Given the description of an element on the screen output the (x, y) to click on. 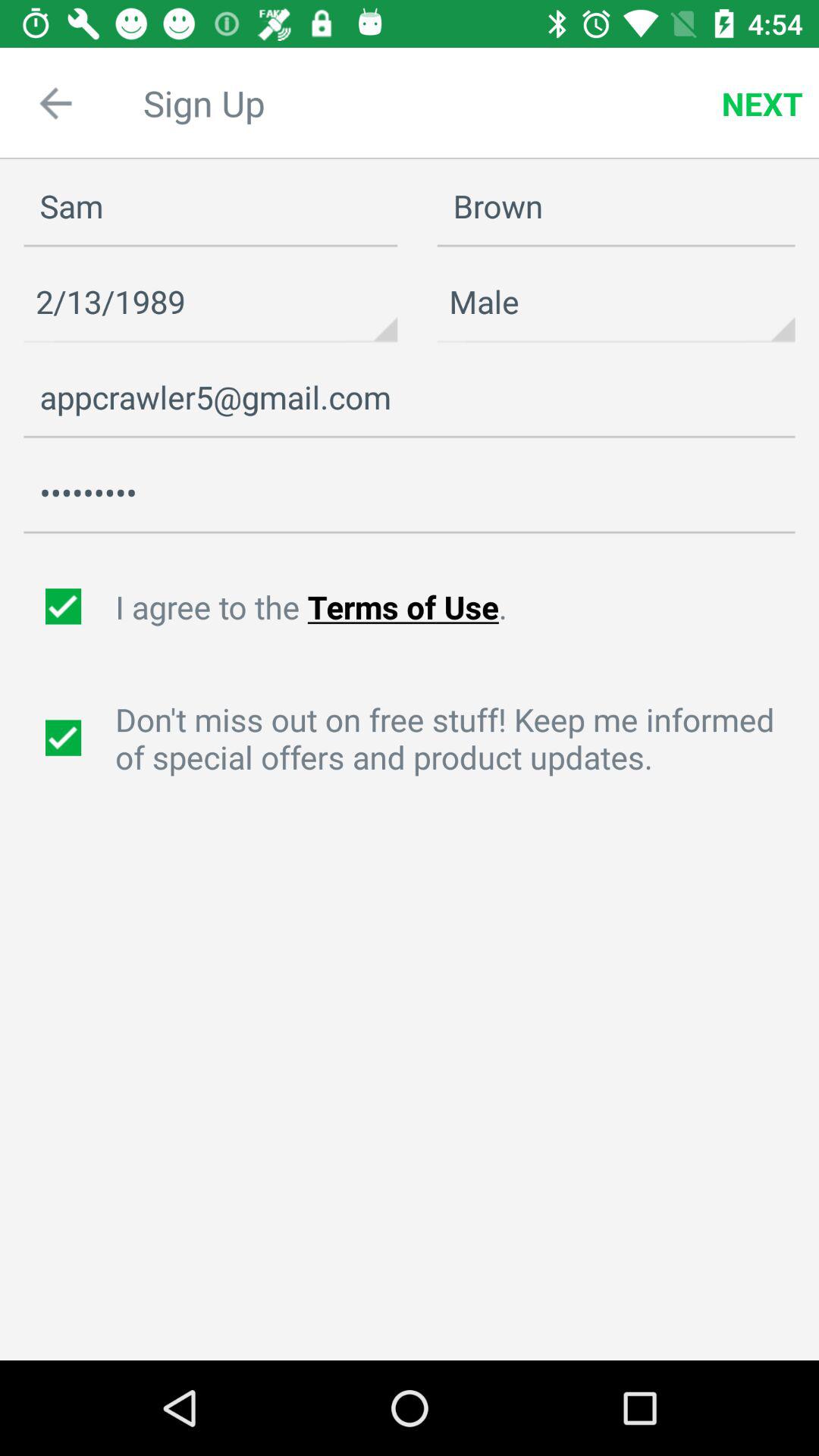
turn off next (762, 103)
